Given the description of an element on the screen output the (x, y) to click on. 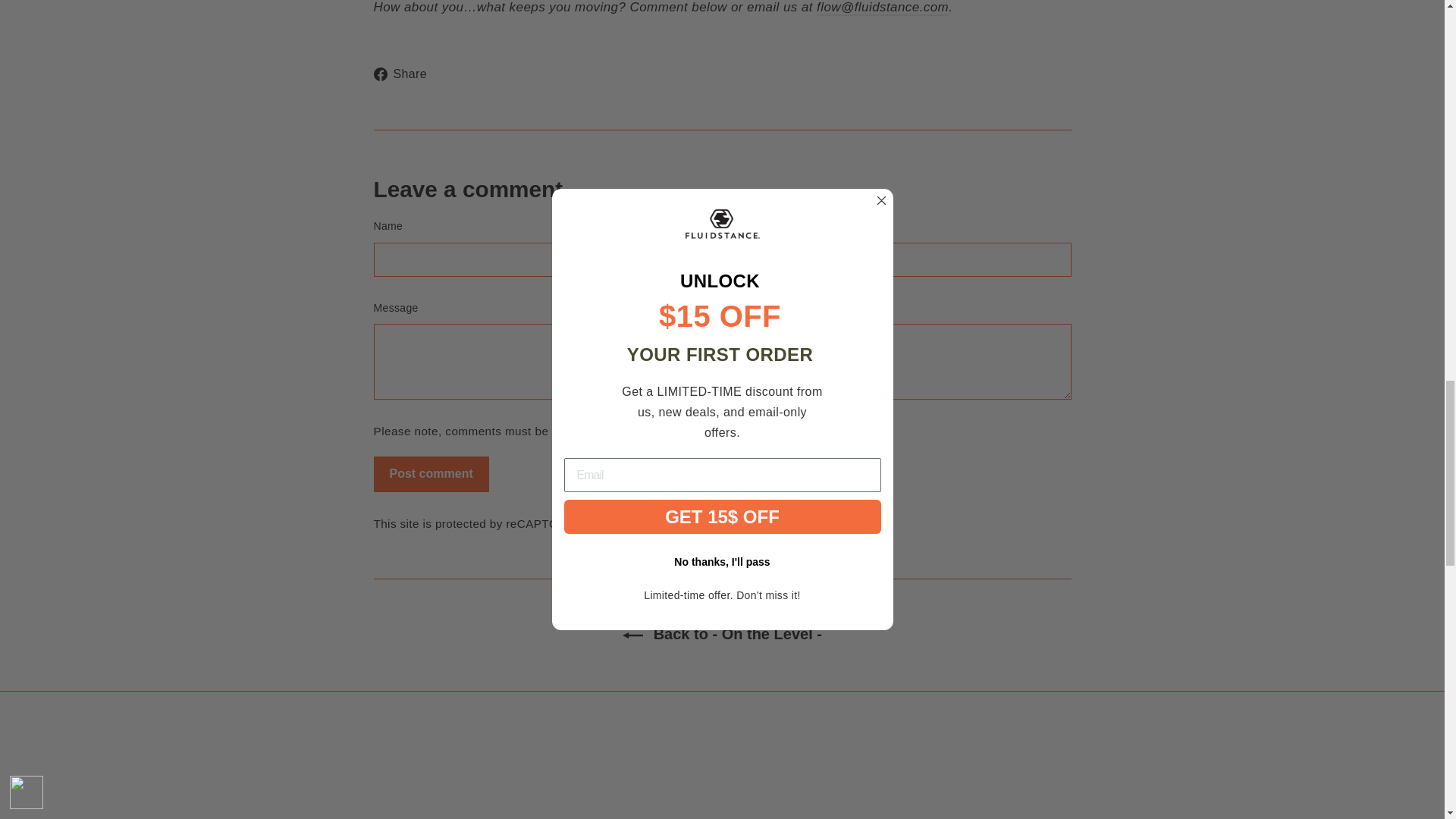
Share on Facebook (405, 73)
Post comment (429, 474)
icon-left-arrow (633, 635)
